Given the description of an element on the screen output the (x, y) to click on. 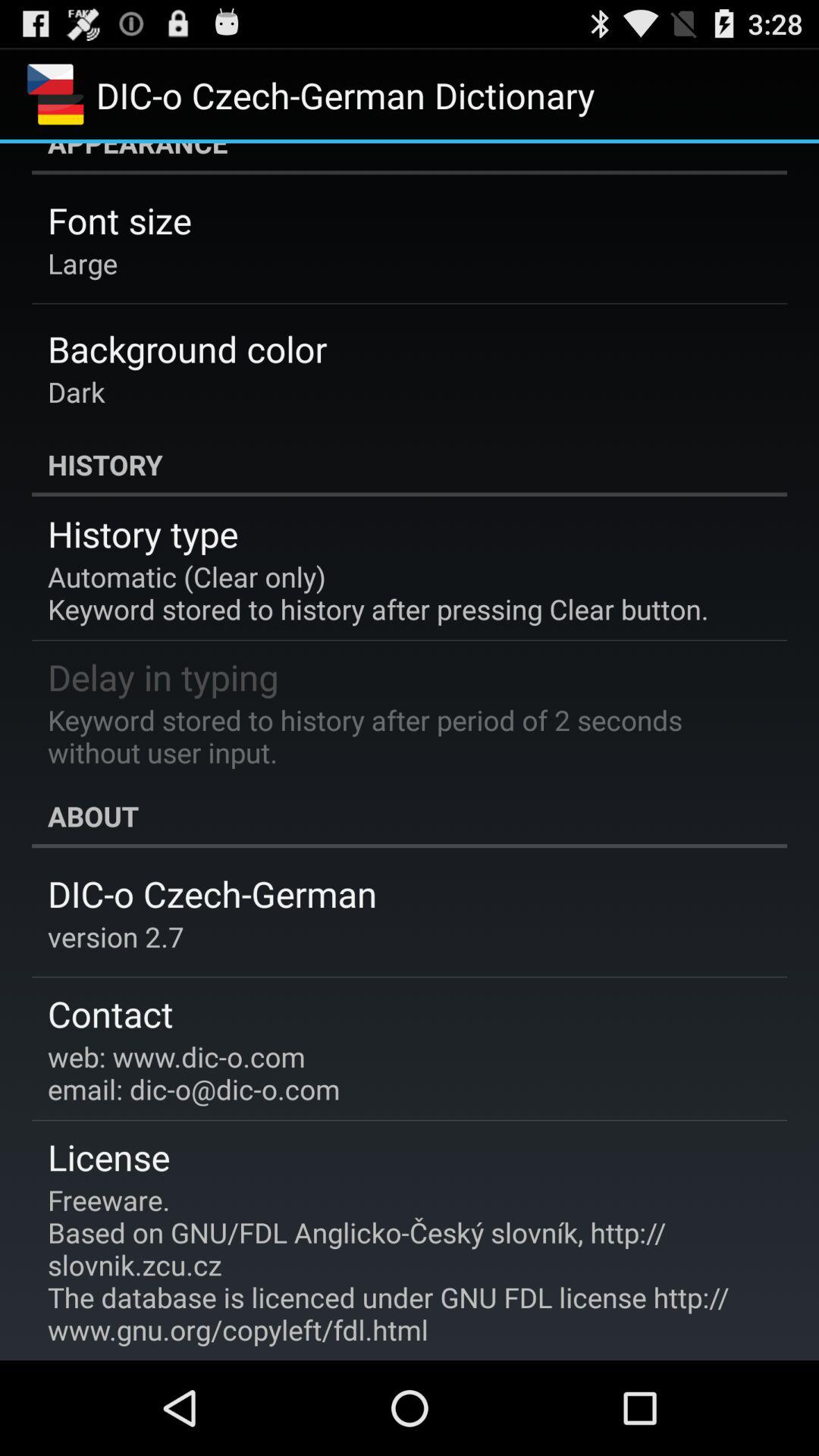
choose item below the font size (82, 263)
